Given the description of an element on the screen output the (x, y) to click on. 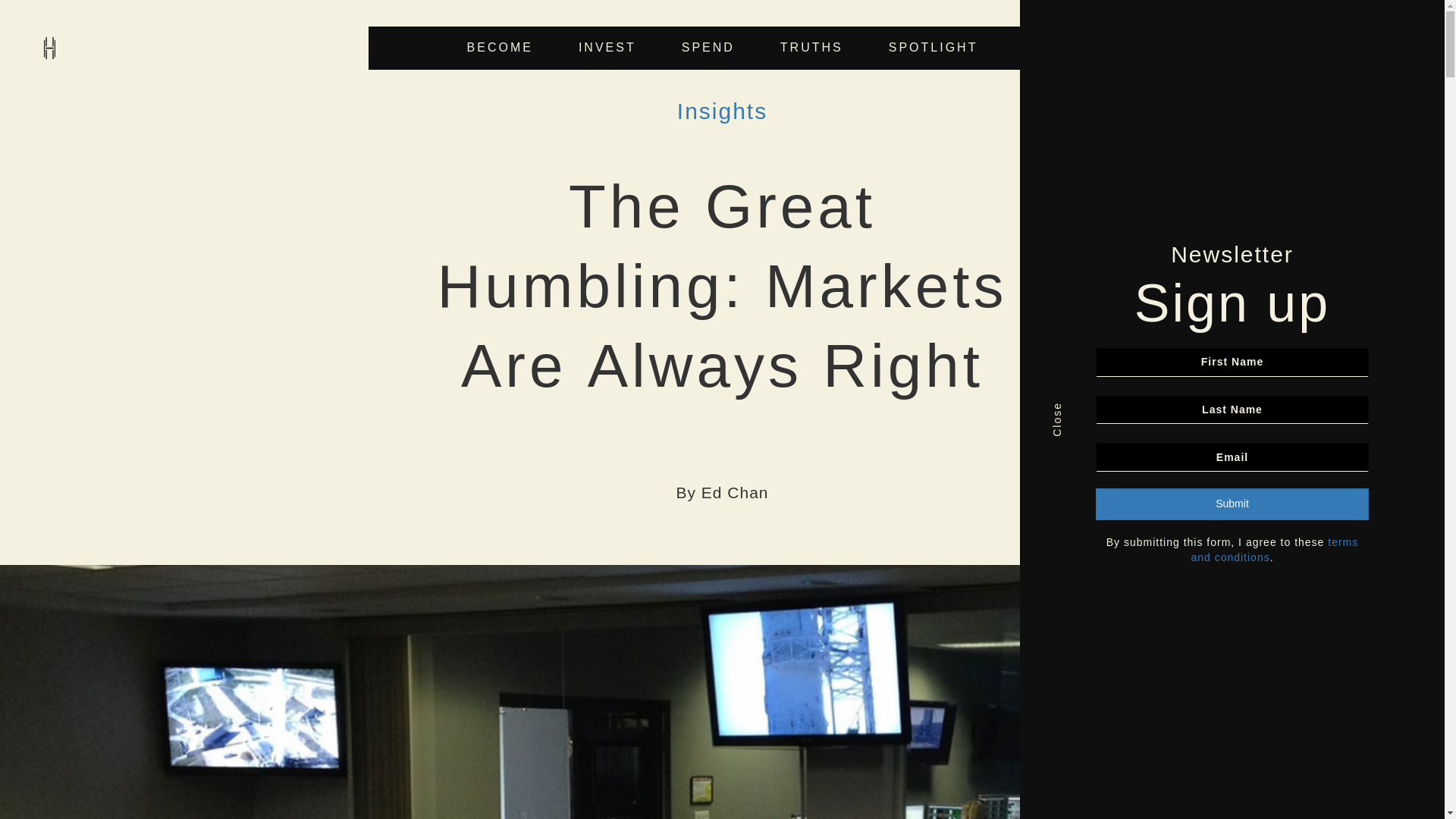
Subscribe (1331, 45)
INVEST (606, 48)
Close (1066, 409)
High Net Worth (49, 47)
BECOME (500, 48)
Search (861, 406)
terms and conditions (1274, 549)
Submit (1232, 504)
